Given the description of an element on the screen output the (x, y) to click on. 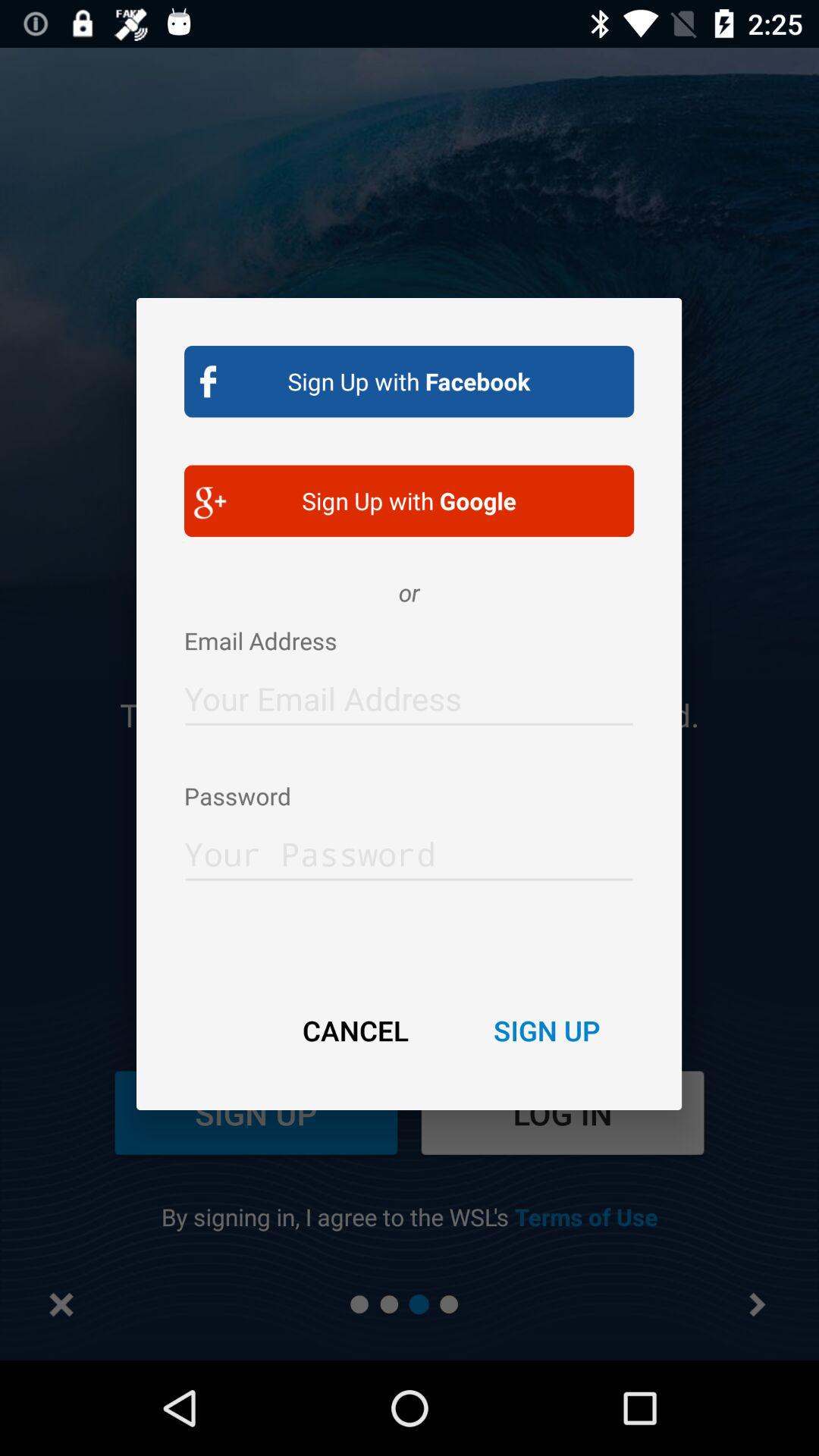
email adress (408, 693)
